Given the description of an element on the screen output the (x, y) to click on. 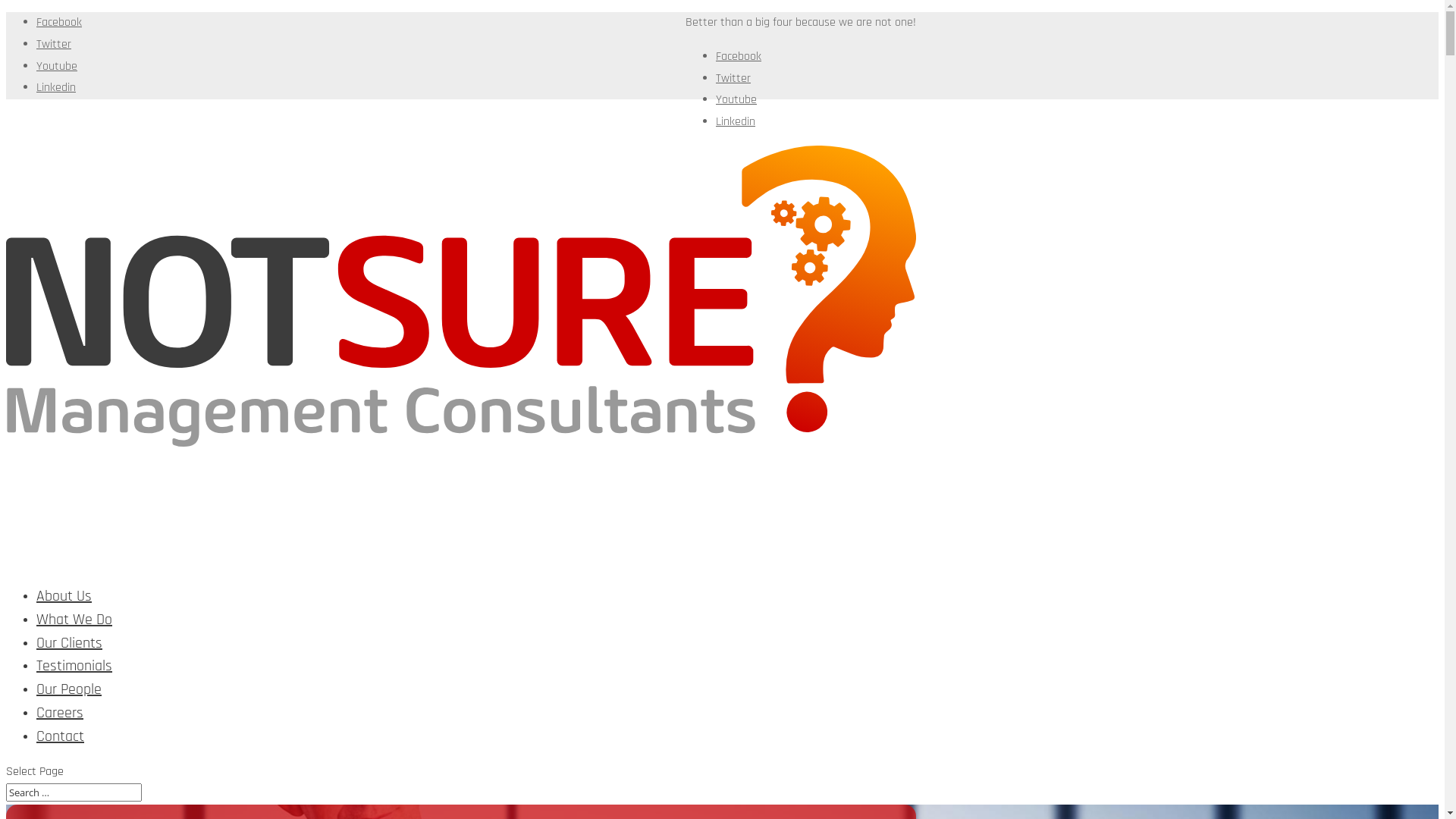
Our Clients Element type: text (69, 661)
Linkedin Element type: text (735, 121)
Youtube Element type: text (735, 99)
Careers Element type: text (59, 731)
Youtube Element type: text (56, 66)
Twitter Element type: text (53, 44)
Testimonials Element type: text (74, 684)
Our People Element type: text (68, 708)
What We Do Element type: text (74, 638)
Linkedin Element type: text (55, 87)
Contact Element type: text (60, 755)
Facebook Element type: text (738, 56)
Twitter Element type: text (732, 78)
About Us Element type: text (63, 614)
Facebook Element type: text (58, 22)
Search for: Element type: hover (73, 792)
